Given the description of an element on the screen output the (x, y) to click on. 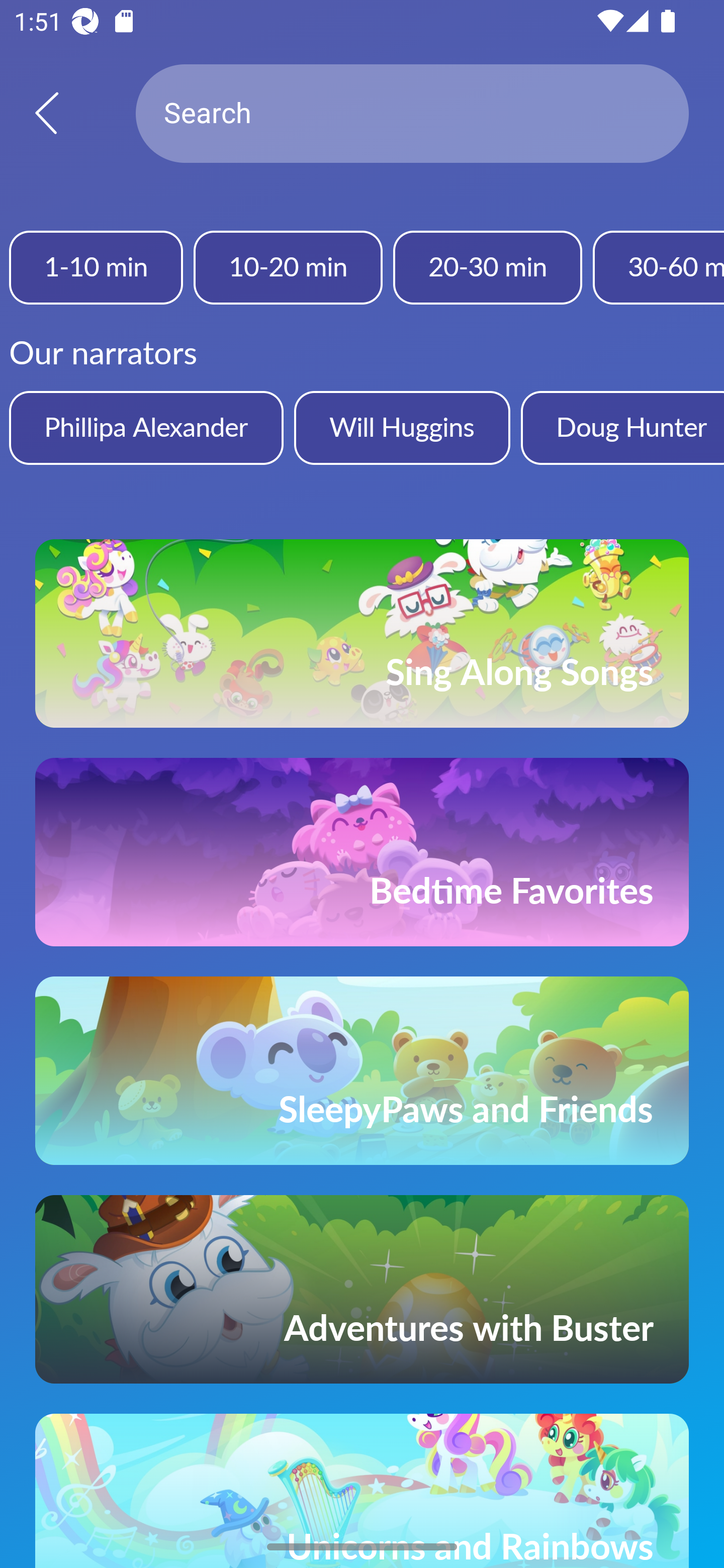
Search (412, 113)
1-10 min (95, 267)
10-20 min (287, 267)
20-30 min (487, 267)
30-60 min (658, 267)
Phillipa Alexander (145, 427)
Will Huggins (401, 427)
Doug Hunter (622, 427)
Sing Along Songs (361, 633)
Bedtime Favorites (361, 852)
SleepyPaws and Friends (361, 1070)
Adventures with Buster (361, 1288)
Unicorns and Rainbows (361, 1491)
